Given the description of an element on the screen output the (x, y) to click on. 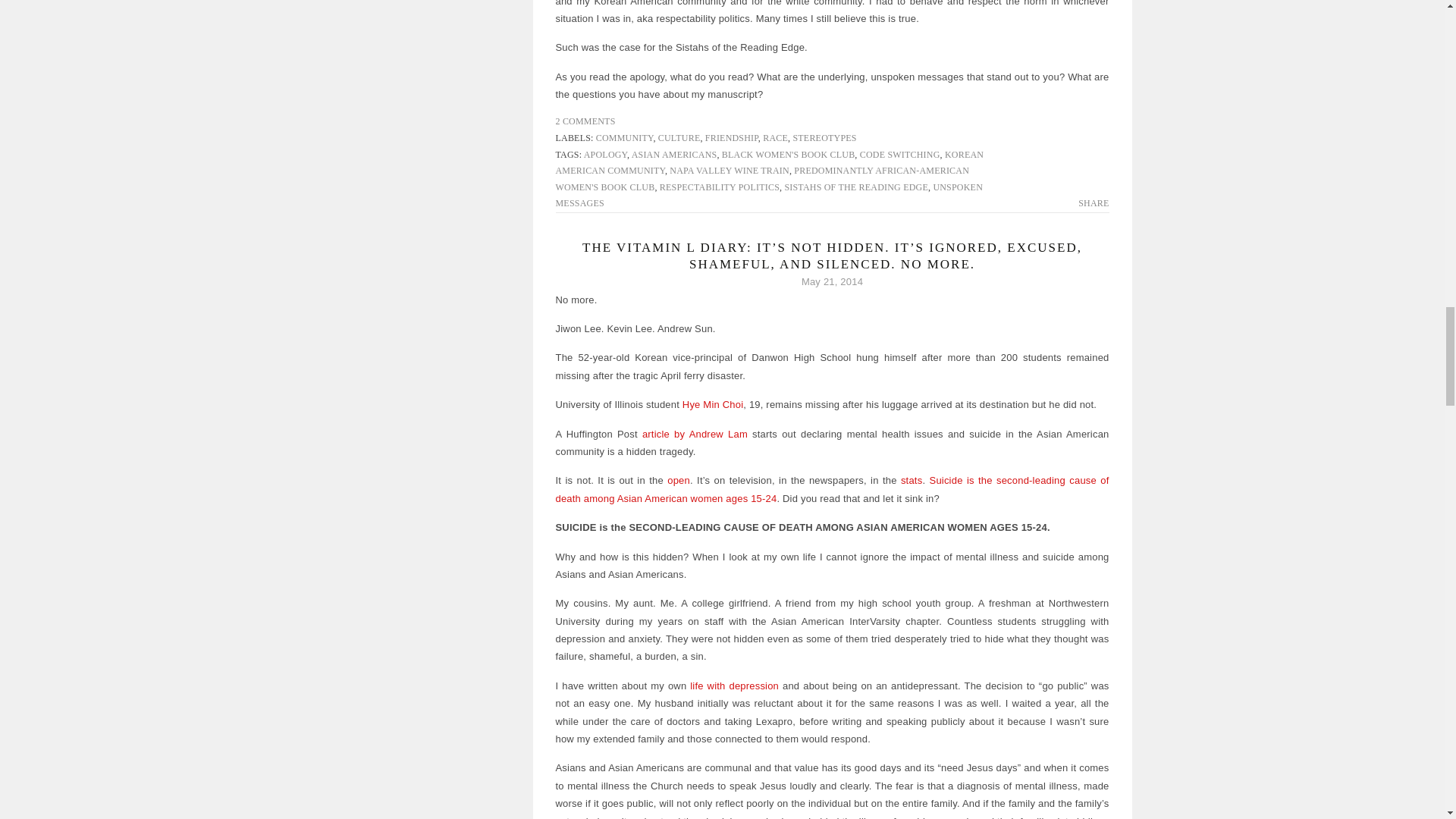
New American Media article (678, 480)
U of I student missing (712, 404)
2 COMMENTS (584, 121)
ASIAN AMERICANS (674, 154)
more stats (831, 489)
COMMUNITY (624, 137)
A Hidden Tragedy (695, 433)
CULTURE (679, 137)
APOLOGY (605, 154)
STEREOTYPES (824, 137)
Vitamin L Diary (734, 685)
FRIENDSHIP (731, 137)
RACE (774, 137)
Research on the topic (911, 480)
